Given the description of an element on the screen output the (x, y) to click on. 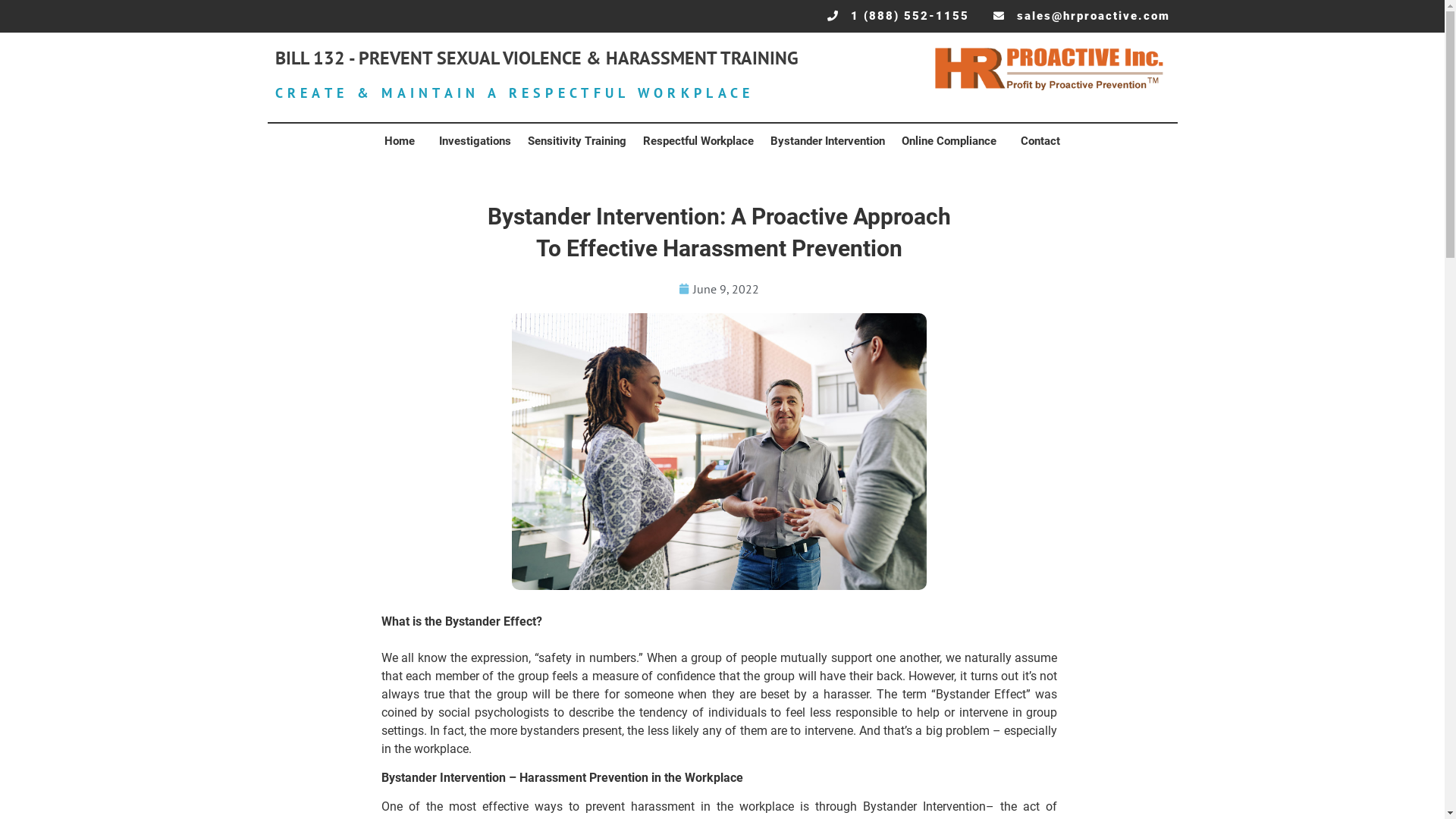
Respectful Workplace Element type: text (698, 140)
Investigations Element type: text (474, 140)
June 9, 2022 Element type: text (718, 288)
1 (888) 552-1155 Element type: text (897, 16)
BILL 132 - PREVENT SEXUAL VIOLENCE & HARASSMENT TRAINING Element type: text (535, 57)
Home Element type: text (403, 140)
sales@hrproactive.com Element type: text (1080, 16)
Sensitivity Training Element type: text (576, 140)
Contact Element type: text (1040, 140)
Online Compliance Element type: text (952, 140)
CREATE & MAINTAIN A RESPECTFUL WORKPLACE Element type: text (513, 92)
Bystander Intervention Element type: text (827, 140)
